Given the description of an element on the screen output the (x, y) to click on. 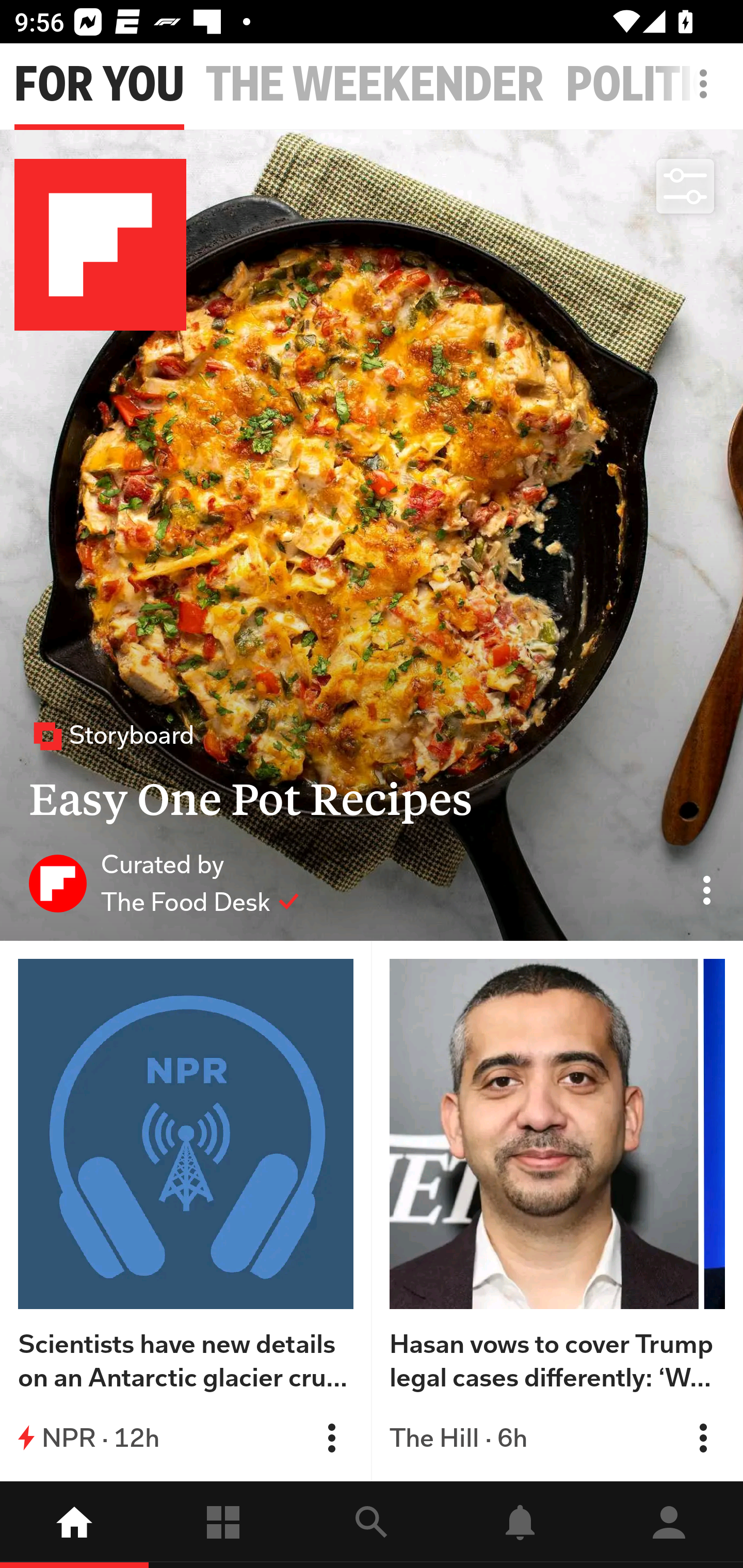
FOR YOU (99, 84)
THE WEEKENDER (374, 84)
POLITICS (654, 84)
More options (706, 93)
Curated by The Food Desk (163, 882)
NPR · 12h Flip into Magazine (185, 1437)
The Hill · 6h Flip into Magazine (557, 1437)
Flip into Magazine (331, 1437)
Flip into Magazine (703, 1437)
home (74, 1524)
Following (222, 1524)
explore (371, 1524)
Notifications (519, 1524)
Profile (668, 1524)
